Given the description of an element on the screen output the (x, y) to click on. 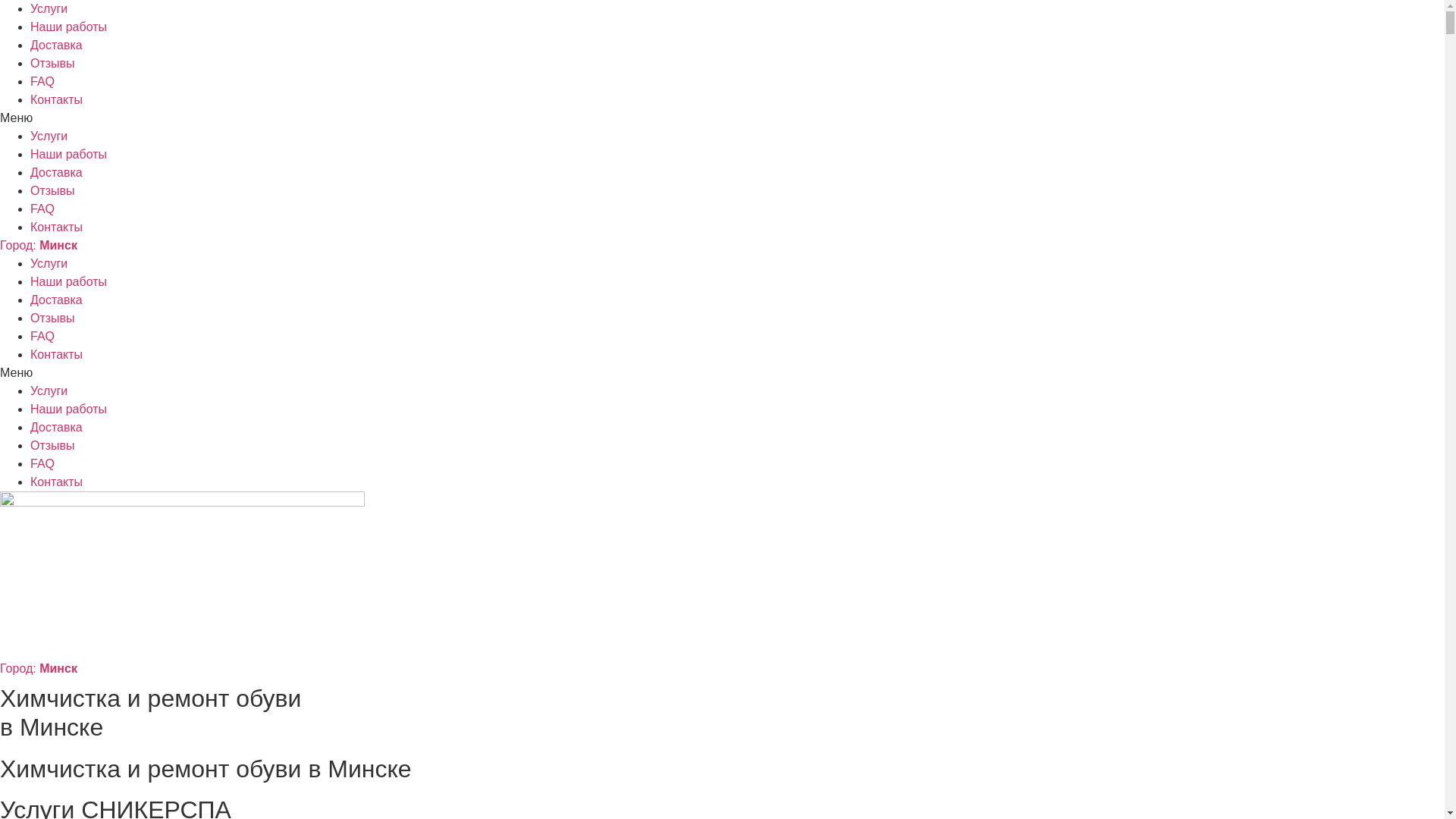
FAQ Element type: text (42, 335)
FAQ Element type: text (42, 463)
FAQ Element type: text (42, 208)
FAQ Element type: text (42, 81)
